Given the description of an element on the screen output the (x, y) to click on. 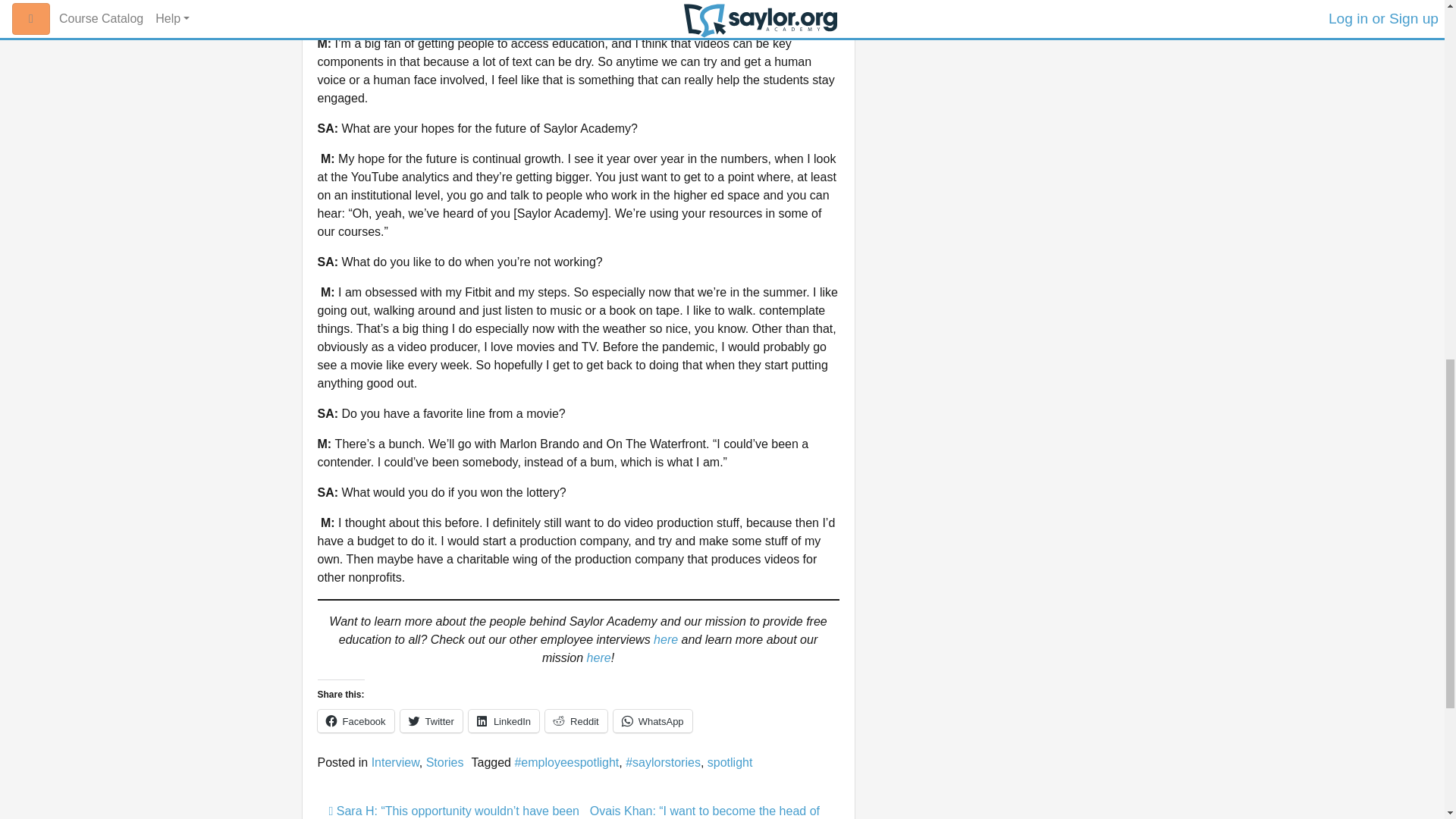
Reddit (575, 721)
Click to share on Reddit (575, 721)
 here (664, 639)
Interview (395, 762)
Twitter (431, 721)
Click to share on Facebook (355, 721)
LinkedIn (503, 721)
WhatsApp (652, 721)
Click to share on WhatsApp (652, 721)
Click to share on Twitter (431, 721)
